Given the description of an element on the screen output the (x, y) to click on. 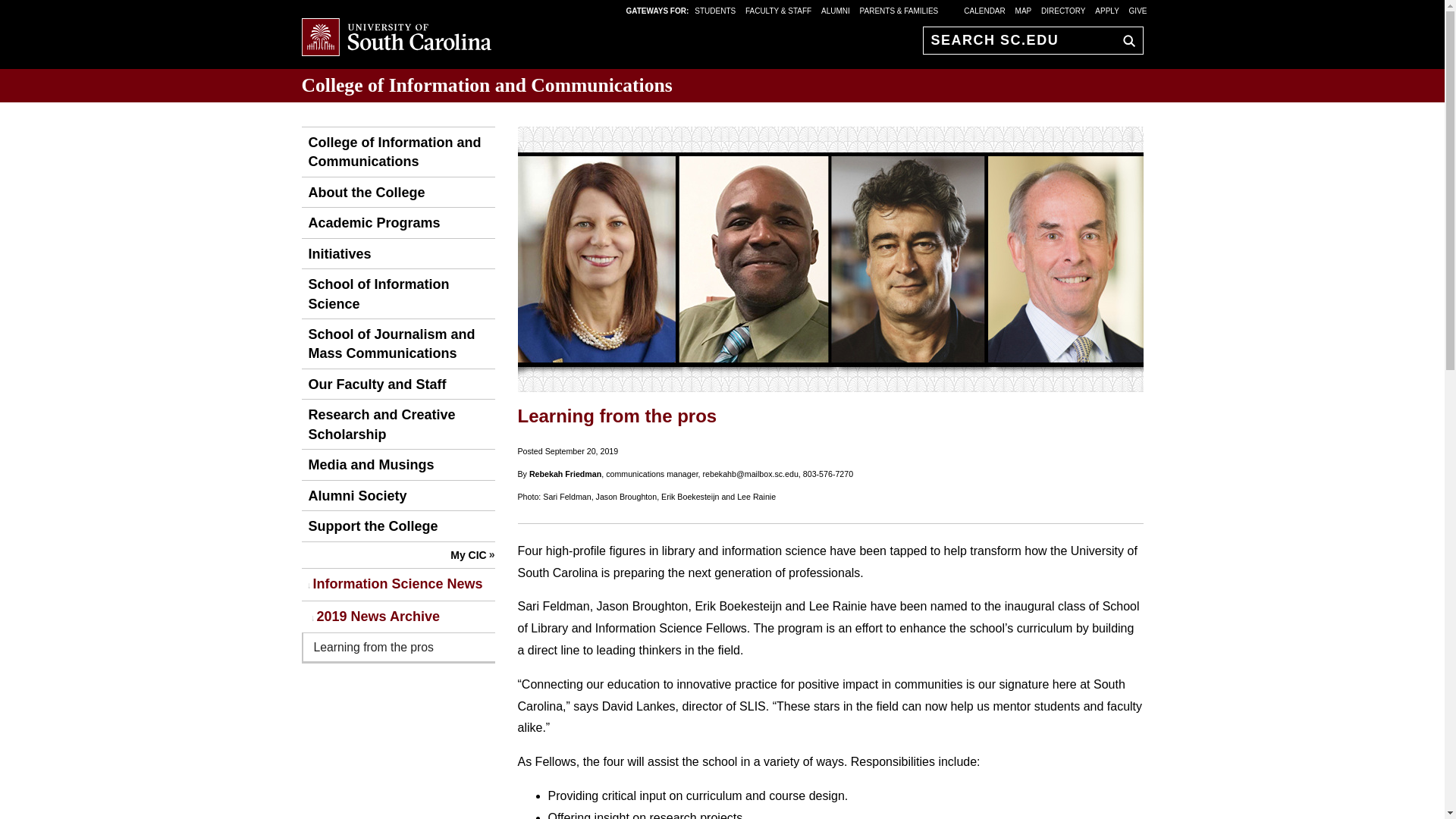
MAP (1023, 9)
GIVE (1138, 9)
DIRECTORY (1063, 9)
GO (1125, 40)
CALENDAR (983, 9)
APPLY (1106, 9)
sc.edu Search (1125, 40)
University of South Carolina Home (396, 38)
ALUMNI (835, 9)
GO (1125, 40)
